Given the description of an element on the screen output the (x, y) to click on. 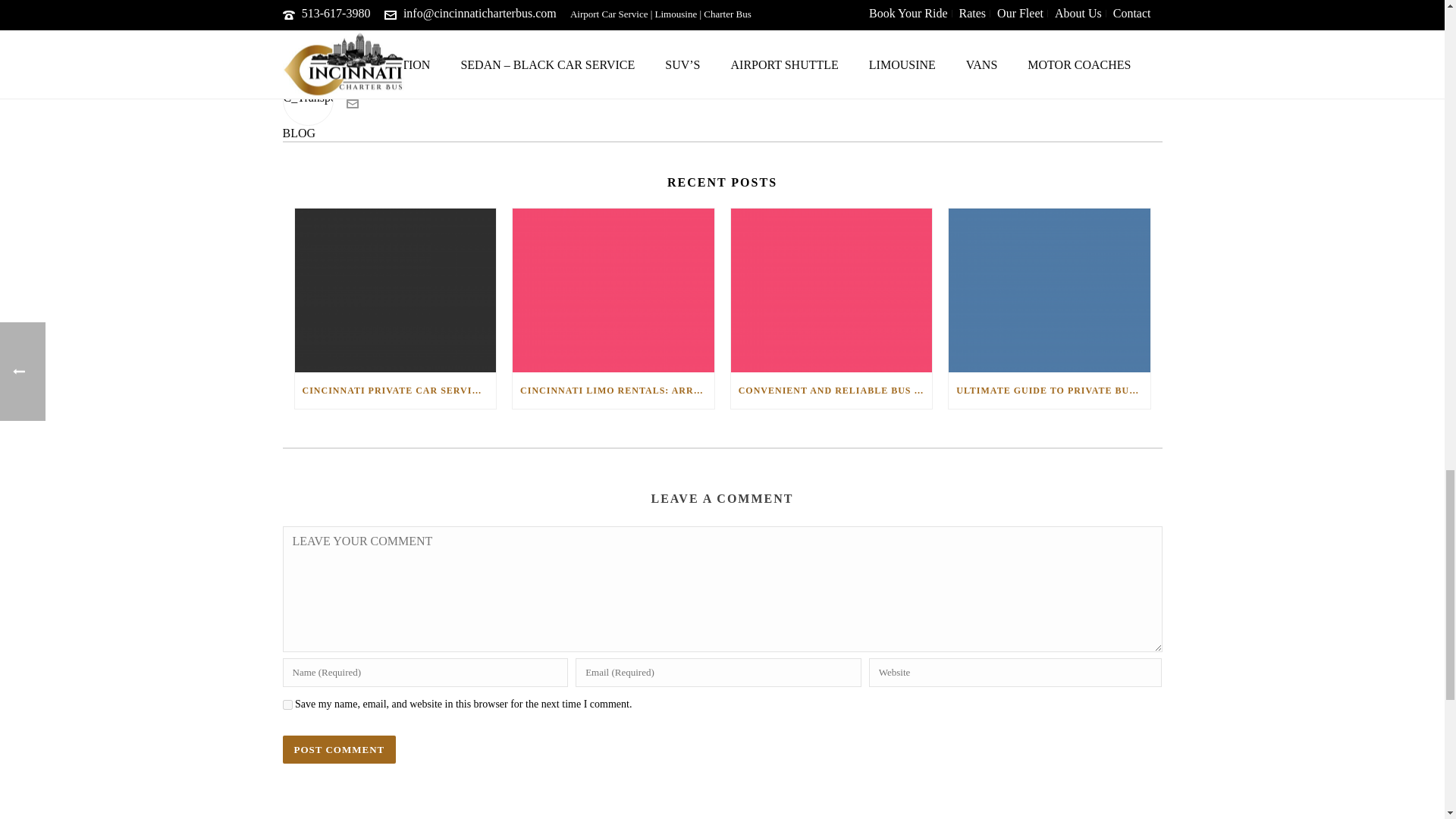
Cincinnati Limo Rentals: Arrive in Style and Elegance (613, 290)
POST COMMENT (339, 749)
yes (287, 705)
Get in touch with me via email (352, 105)
Convenient and Reliable Bus Rental Services in Cincinnati (831, 290)
